Given the description of an element on the screen output the (x, y) to click on. 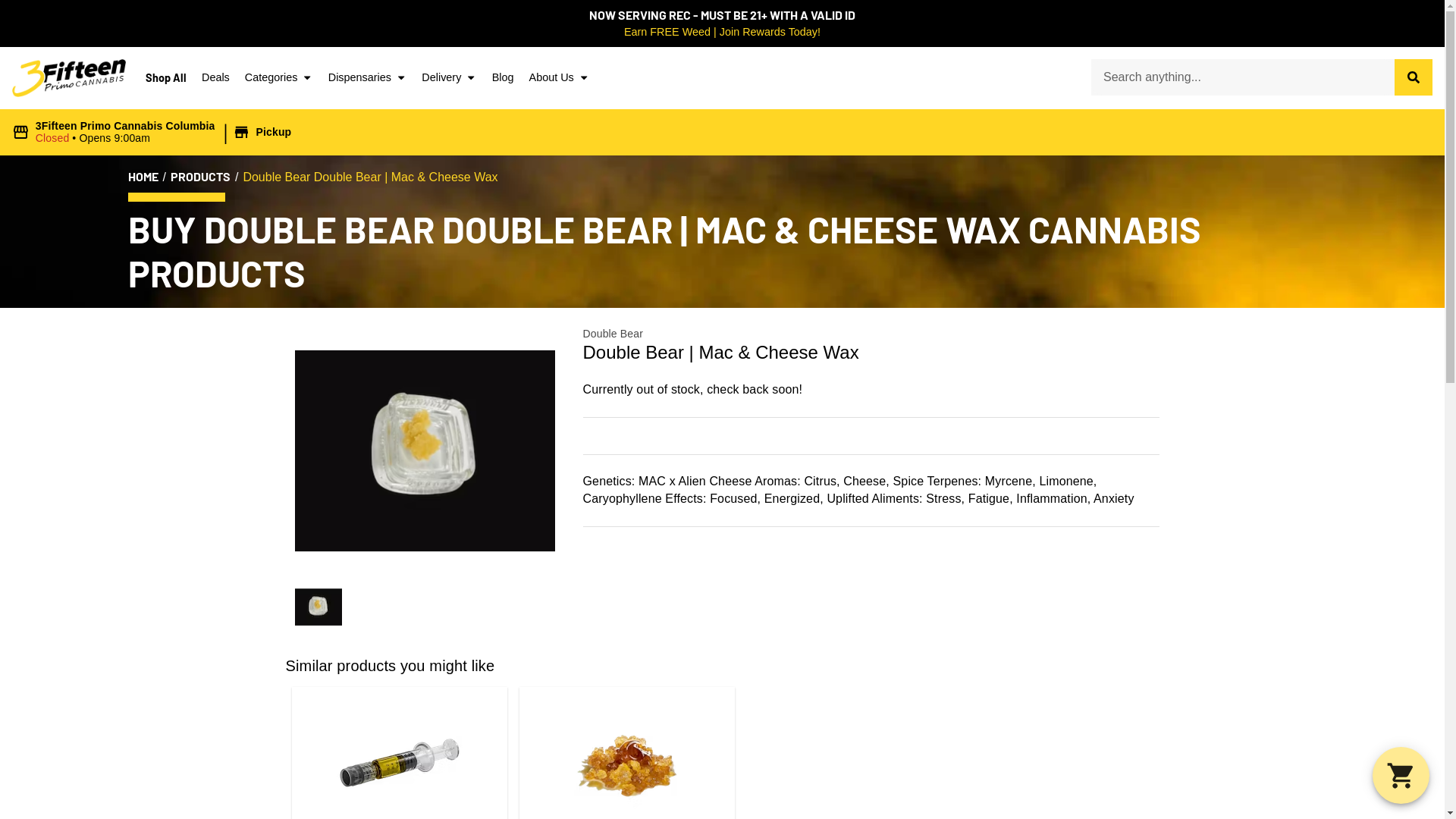
HOME Element type: text (142, 176)
Shop All Element type: text (166, 77)
Blog Element type: text (502, 77)
PRODUCTS Element type: text (200, 176)
Deals Element type: text (215, 77)
Dispensaries Element type: text (367, 77)
About Us Element type: text (559, 77)
Categories Element type: text (278, 77)
Delivery Element type: text (448, 77)
